Given the description of an element on the screen output the (x, y) to click on. 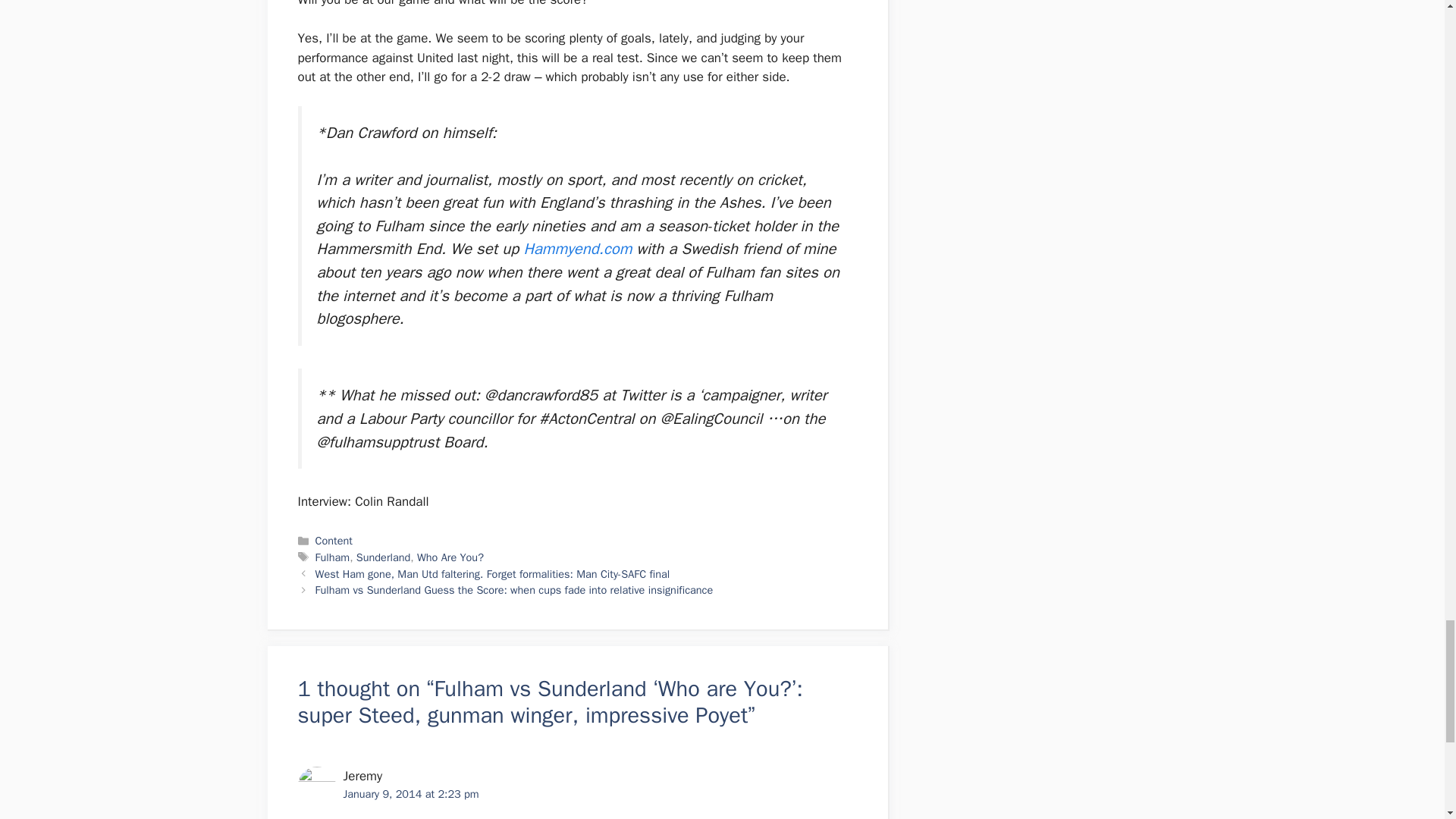
January 9, 2014 at 2:23 pm (410, 793)
Who Are You? (449, 557)
Content (333, 540)
Hammyend.com (576, 248)
Fulham (332, 557)
Sunderland (383, 557)
